Given the description of an element on the screen output the (x, y) to click on. 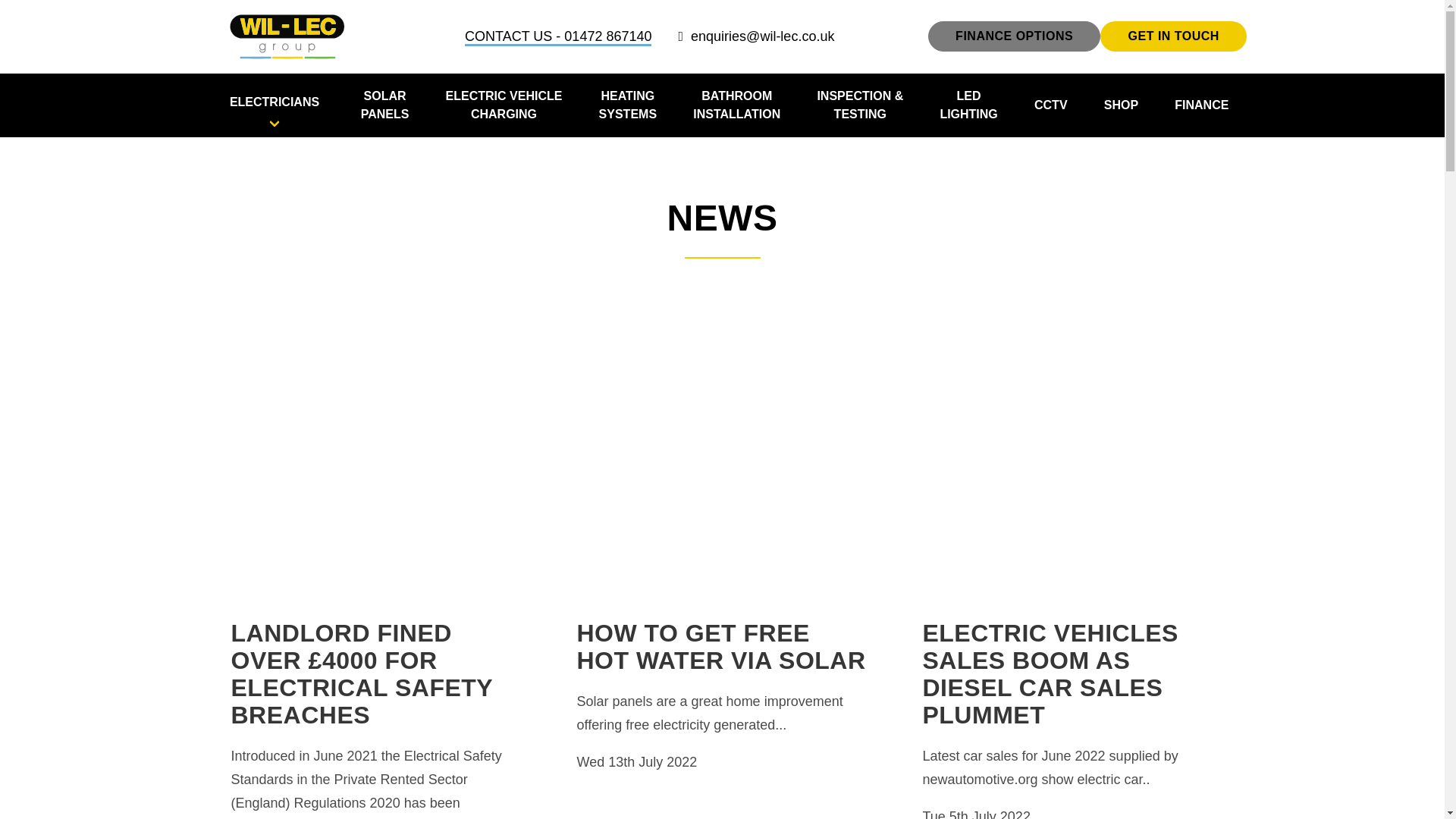
Shop (1121, 105)
Finance (1200, 105)
FINANCE OPTIONS (385, 105)
Electric Vehicle Charging (504, 105)
ELECTRICIANS (1014, 36)
Finance options (968, 105)
SHOP (504, 105)
Electricians (736, 105)
CCTV (273, 104)
How to get free hot water via solar (1014, 36)
